Given the description of an element on the screen output the (x, y) to click on. 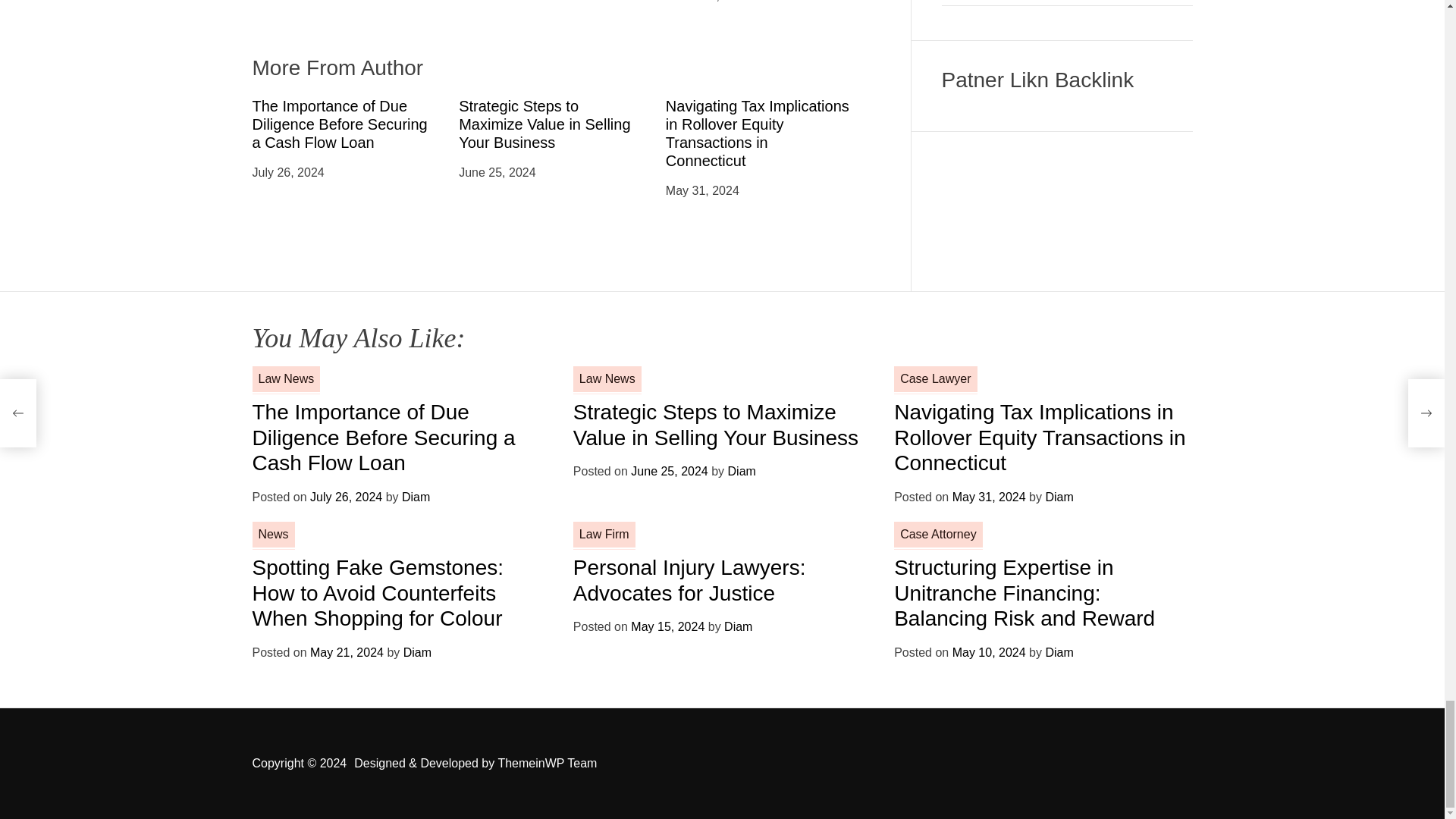
Strategic Steps to Maximize Value in Selling Your Business (544, 123)
